Given the description of an element on the screen output the (x, y) to click on. 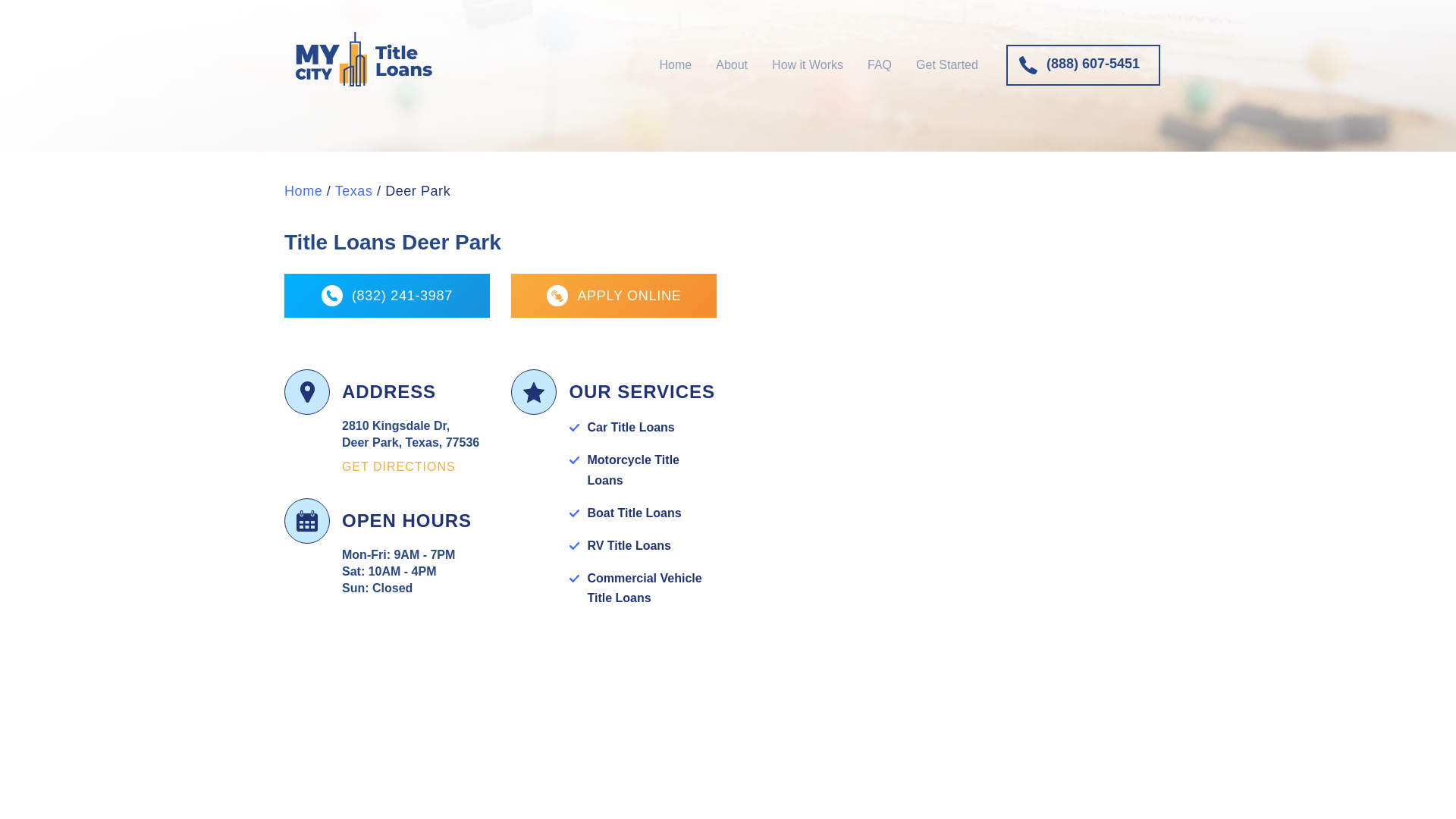
GET DIRECTIONS (398, 466)
Home (675, 64)
About (731, 64)
logo-v3 (364, 58)
How it Works (807, 64)
FAQ (879, 64)
Get Started (947, 64)
APPLY ONLINE (613, 295)
Home (302, 191)
Texas (353, 191)
